Given the description of an element on the screen output the (x, y) to click on. 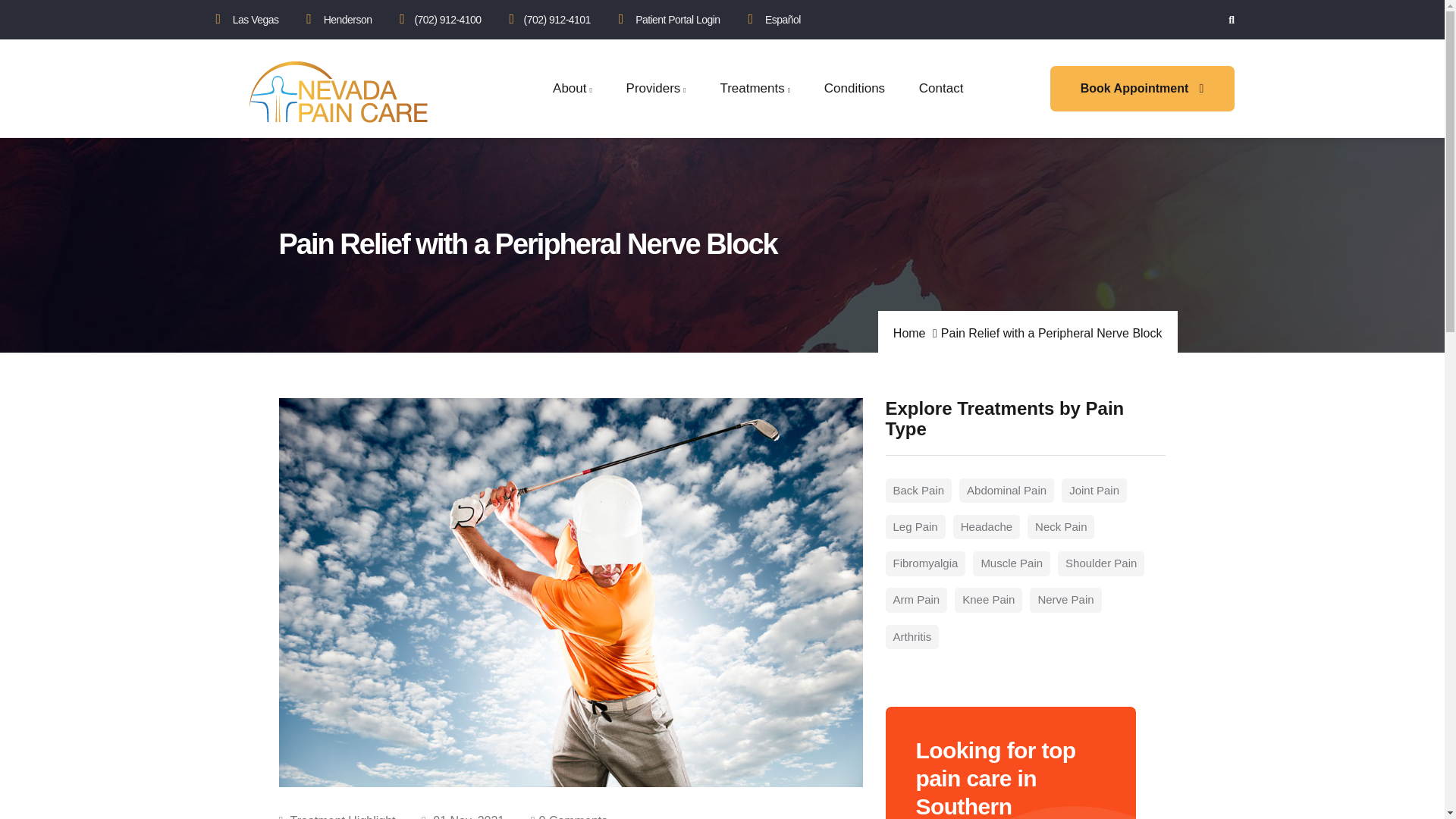
Henderson (347, 19)
About (572, 88)
Home (338, 92)
Patient Portal Login (676, 19)
Las Vegas (255, 19)
Treatments (754, 88)
Providers (656, 88)
